Given the description of an element on the screen output the (x, y) to click on. 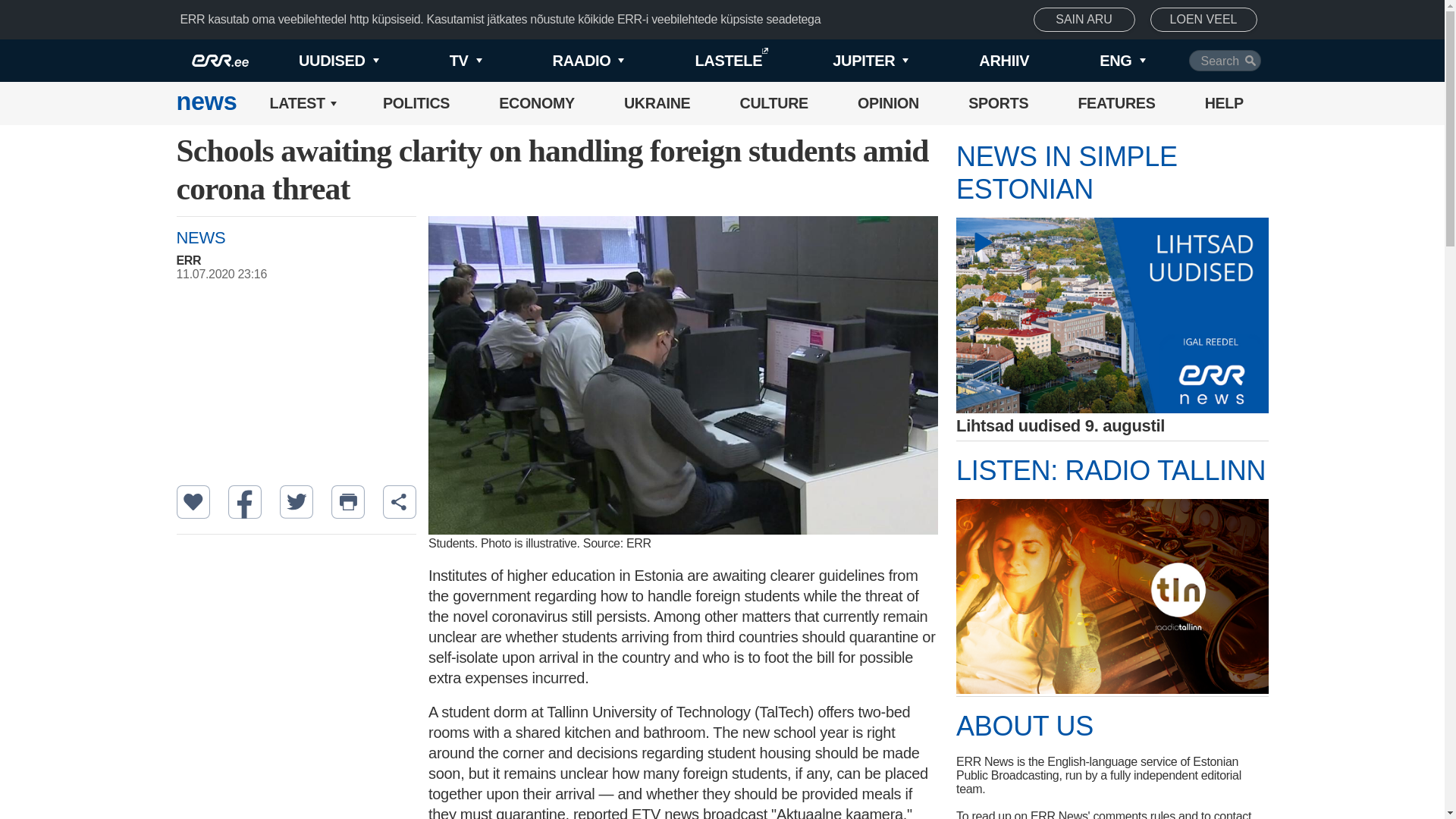
SAIN ARU (1084, 19)
RAADIO (563, 60)
LOEN VEEL (1203, 19)
TV (440, 60)
Avalehele (205, 103)
11.07.2020 23:16 (302, 274)
UUDISED (314, 60)
